Given the description of an element on the screen output the (x, y) to click on. 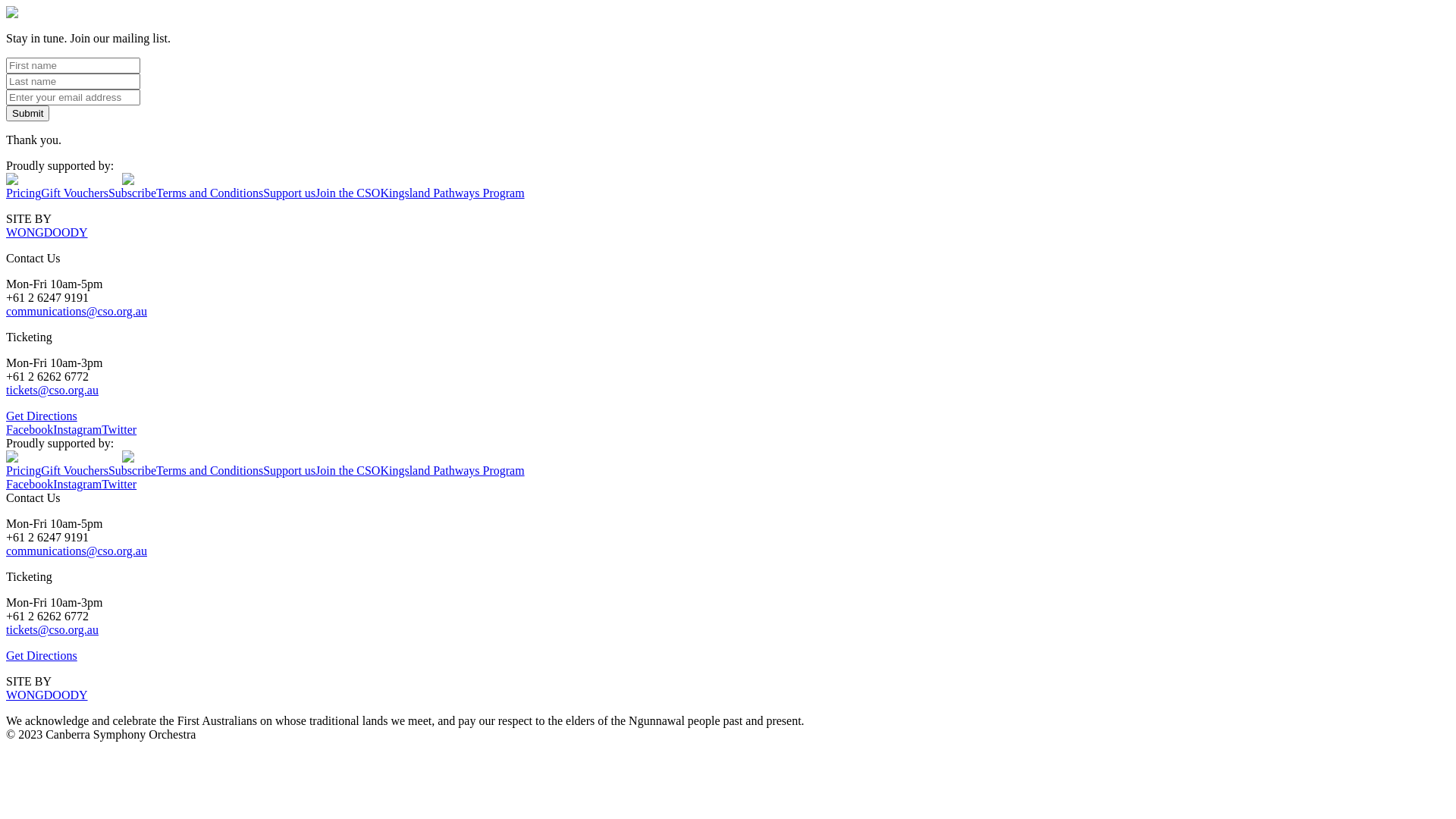
Instagram Element type: text (77, 483)
WONGDOODY Element type: text (46, 694)
Join the CSO Element type: text (347, 470)
Terms and Conditions Element type: text (209, 470)
Get Directions Element type: text (41, 655)
Instagram Element type: text (77, 429)
Kingsland Pathways Program Element type: text (451, 470)
Get Directions Element type: text (41, 415)
Support us Element type: text (289, 192)
Support us Element type: text (289, 470)
tickets@cso.org.au Element type: text (52, 389)
Twitter Element type: text (118, 429)
Kingsland Pathways Program Element type: text (451, 192)
Gift Vouchers Element type: text (74, 470)
Twitter Element type: text (118, 483)
Facebook Element type: text (29, 483)
tickets@cso.org.au Element type: text (52, 629)
Submit Element type: text (27, 113)
Subscribe Element type: text (132, 192)
Pricing Element type: text (23, 192)
WONGDOODY Element type: text (46, 231)
Terms and Conditions Element type: text (209, 192)
Facebook Element type: text (29, 429)
Join the CSO Element type: text (347, 192)
Subscribe Element type: text (132, 470)
communications@cso.org.au Element type: text (76, 550)
communications@cso.org.au Element type: text (76, 310)
Pricing Element type: text (23, 470)
Gift Vouchers Element type: text (74, 192)
